Given the description of an element on the screen output the (x, y) to click on. 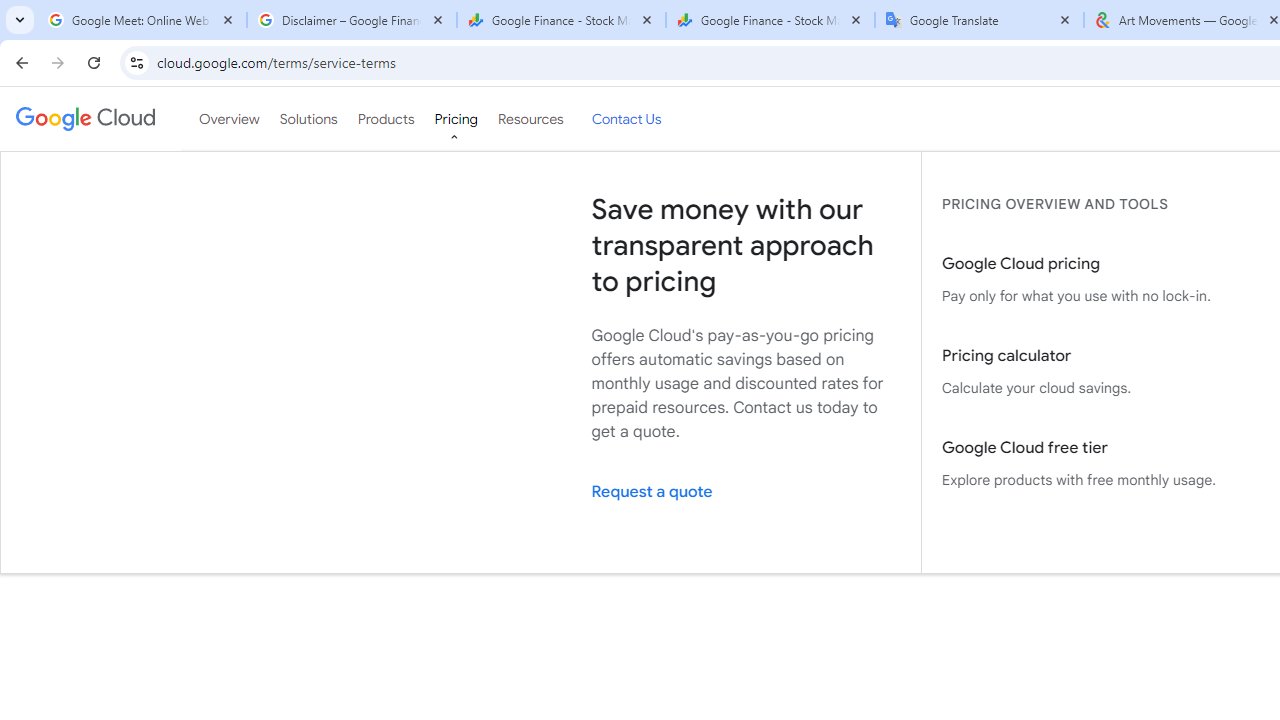
Contact Us (626, 119)
Pricing calculator Calculate your cloud savings. (1096, 372)
Pricing (455, 119)
Back to Google Cloud Terms Directory (956, 226)
Solutions (308, 119)
Resources (530, 119)
Products (385, 119)
